Given the description of an element on the screen output the (x, y) to click on. 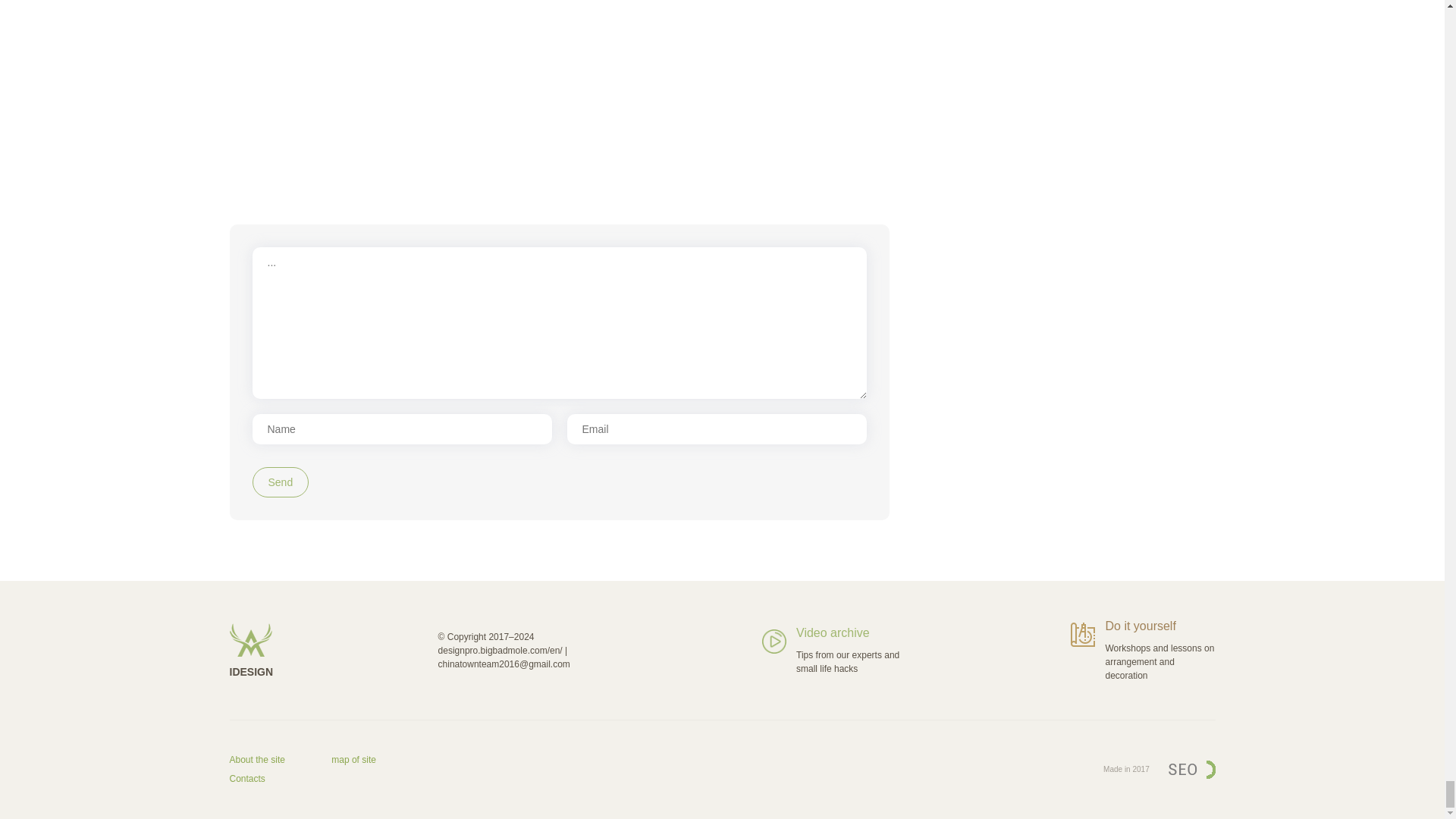
Send (279, 481)
